Given the description of an element on the screen output the (x, y) to click on. 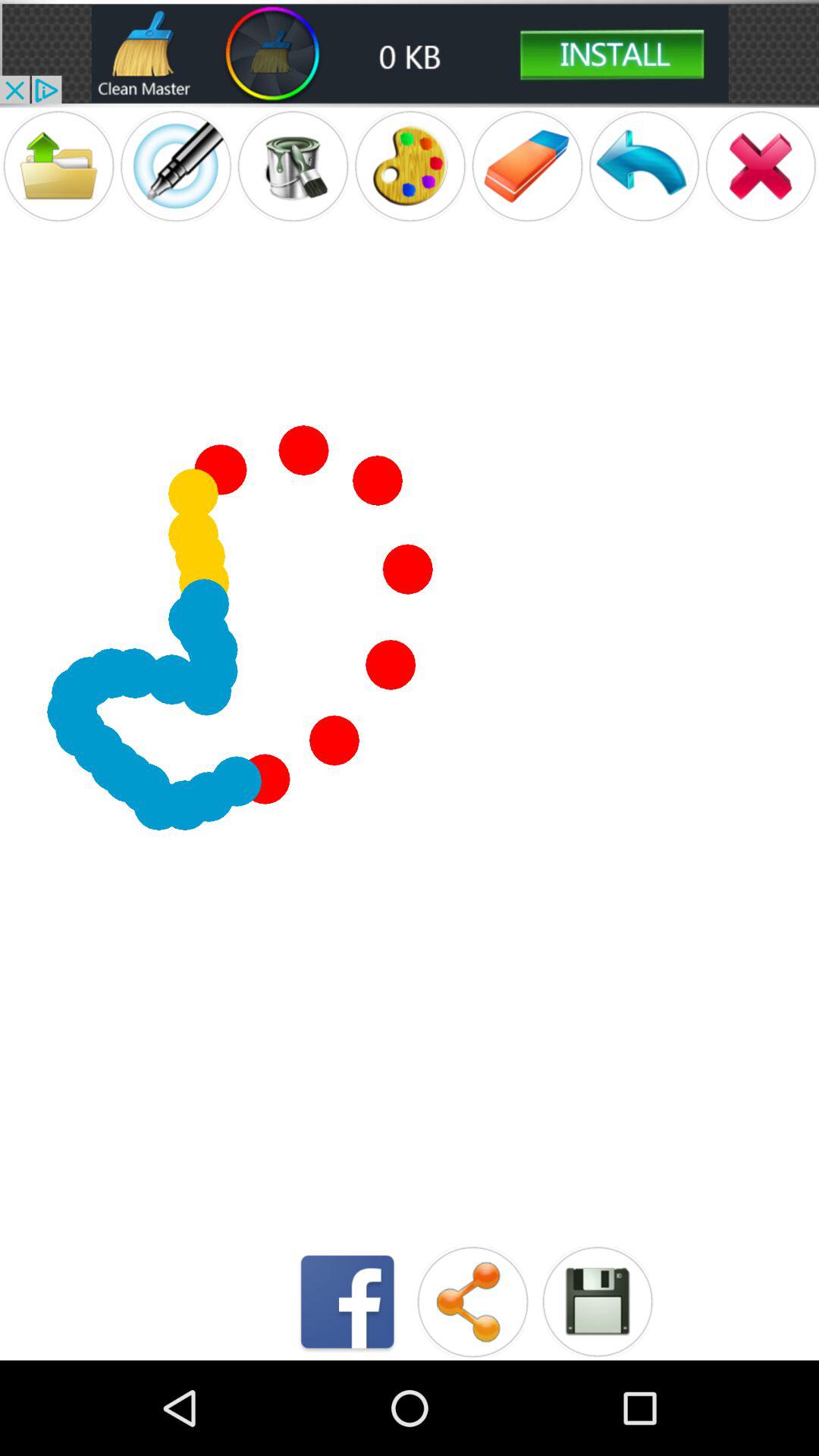
open advertisement (409, 53)
